Given the description of an element on the screen output the (x, y) to click on. 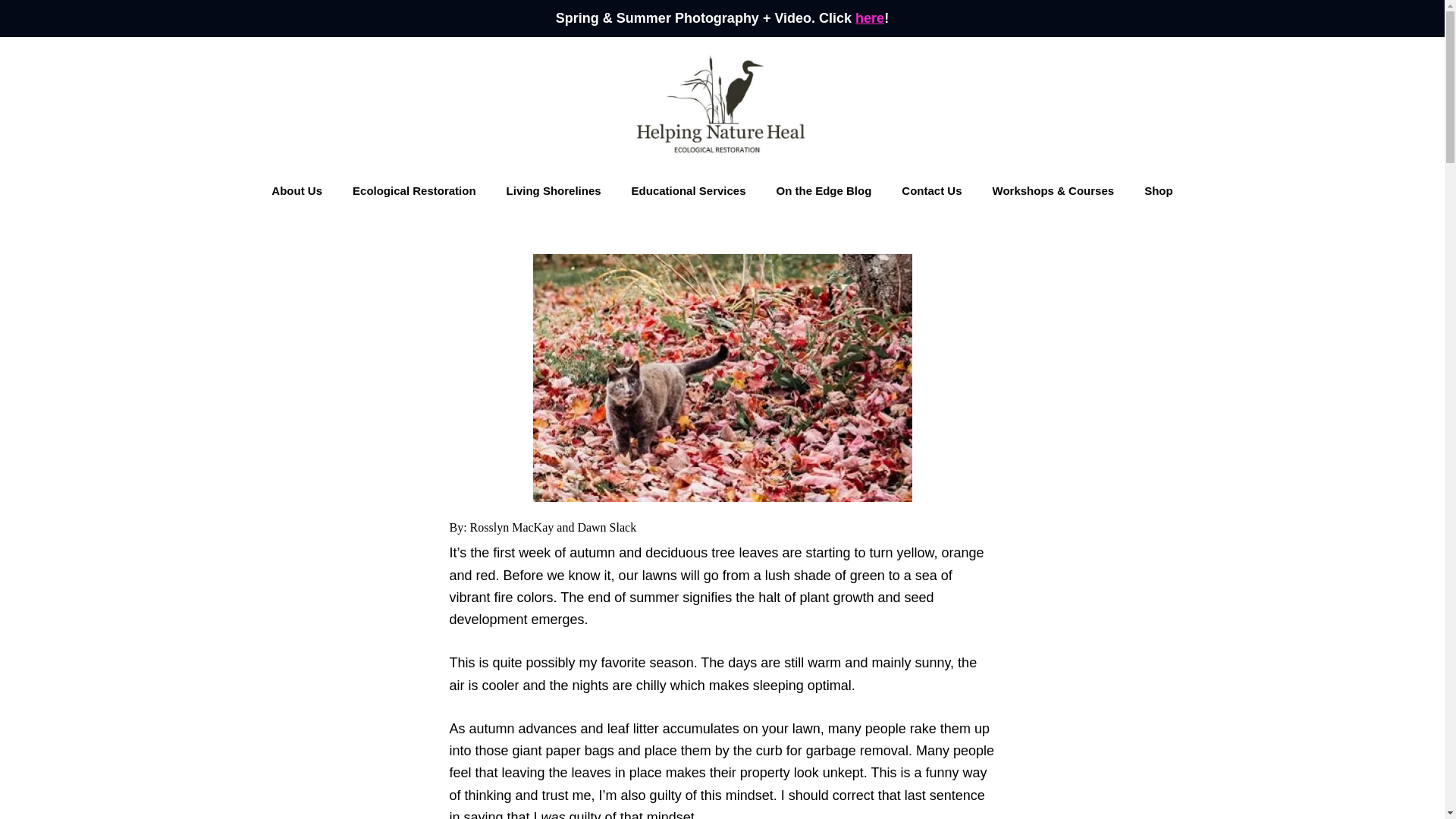
On the Edge Blog (823, 190)
here (869, 17)
Shop (1158, 190)
Educational Services (688, 190)
Contact Us (931, 190)
Ecological Restoration (414, 190)
Living Shorelines (553, 190)
Helping Nature Heal Inc. (722, 105)
About Us (296, 190)
